Given the description of an element on the screen output the (x, y) to click on. 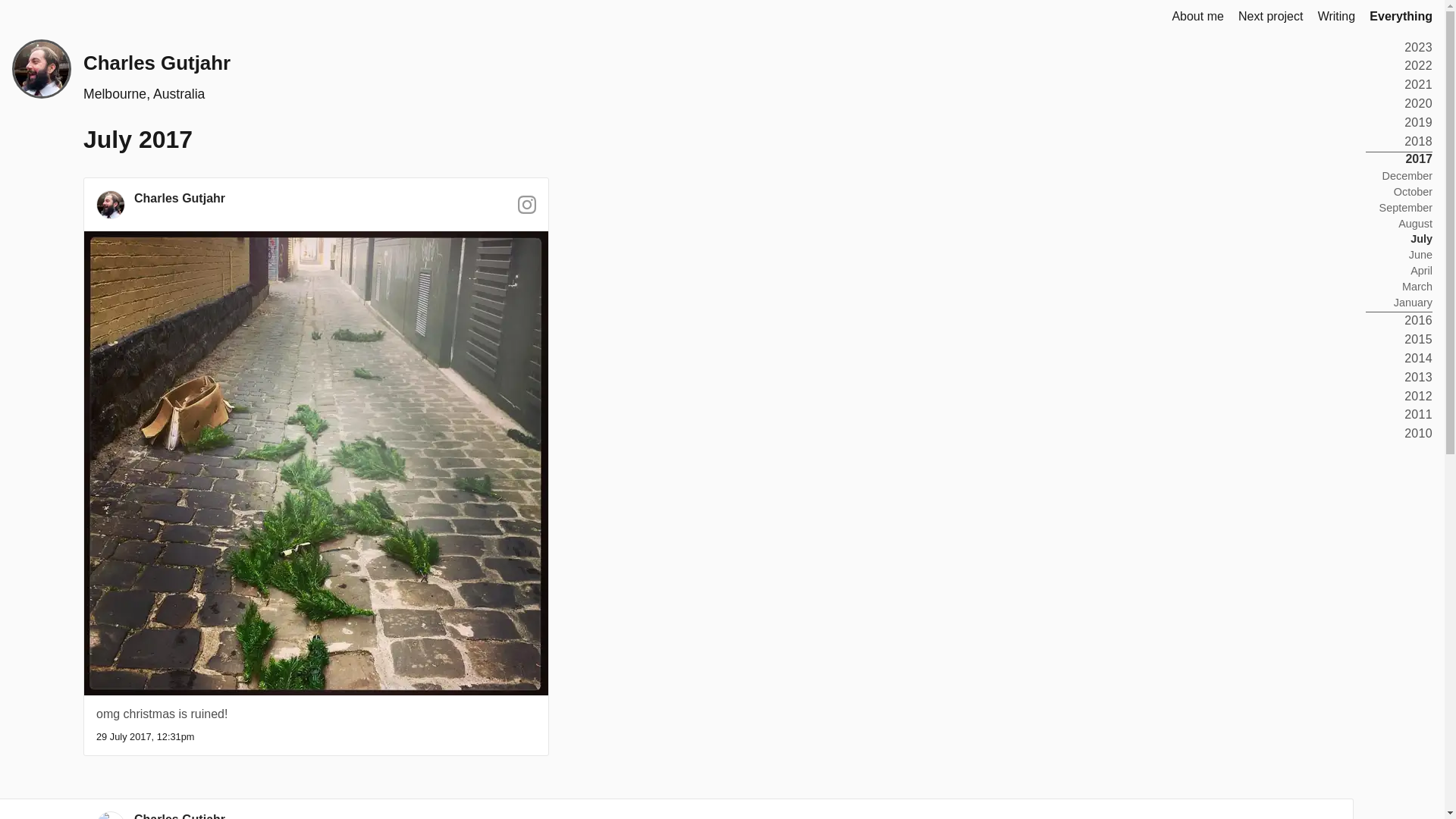
29 July 2017, 12:31pm (144, 736)
August (1414, 223)
About me (1197, 16)
View this on Instagram (526, 209)
2021 (1418, 83)
March (1417, 286)
June (1420, 254)
2012 (1418, 395)
Charles Gutjahr (156, 62)
September (1405, 207)
